Given the description of an element on the screen output the (x, y) to click on. 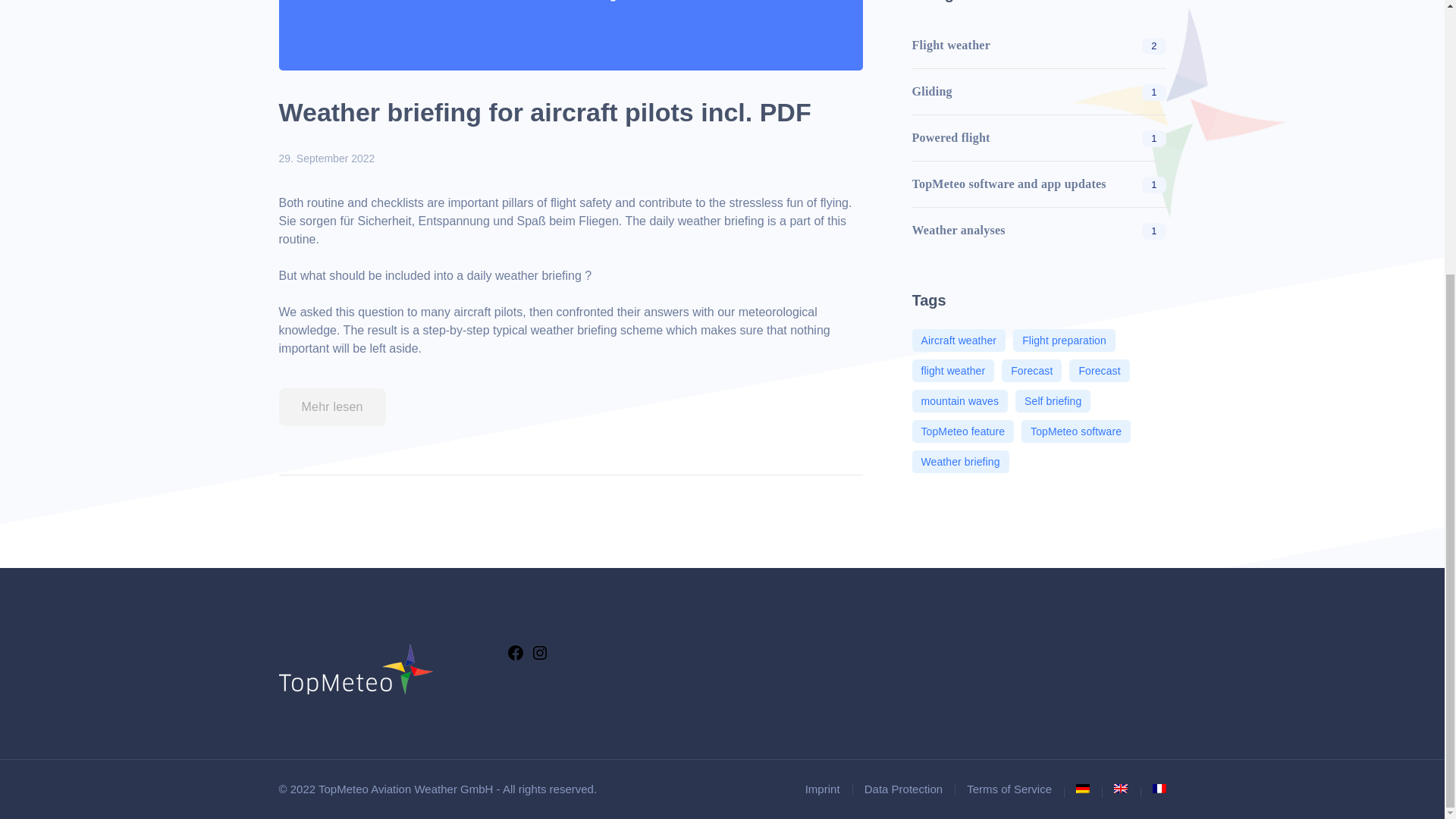
Weather analyses (957, 230)
Flight preparation (1064, 340)
Forecast (1098, 370)
TopMeteo feature (962, 431)
Self briefing (1052, 400)
TopMeteo software (1076, 431)
Gliding (931, 91)
Powered flight (950, 137)
Weather briefing for aircraft pilots incl. PDF (544, 111)
mountain waves (959, 400)
